Given the description of an element on the screen output the (x, y) to click on. 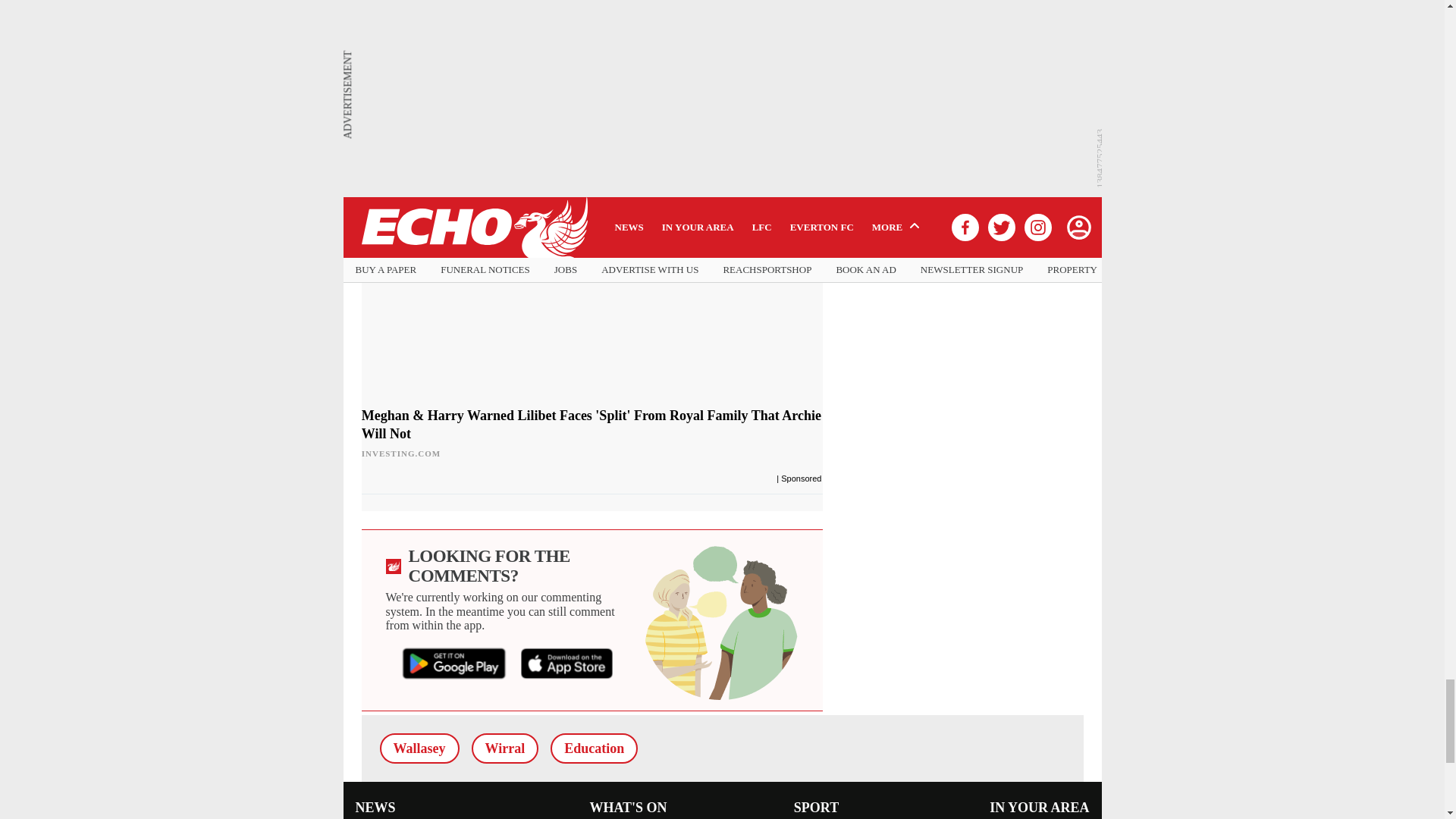
Melting Ice In Alaska Reveals Harrowing Discovery (474, 27)
Melting Ice In Alaska Reveals Harrowing Discovery (474, 90)
